Given the description of an element on the screen output the (x, y) to click on. 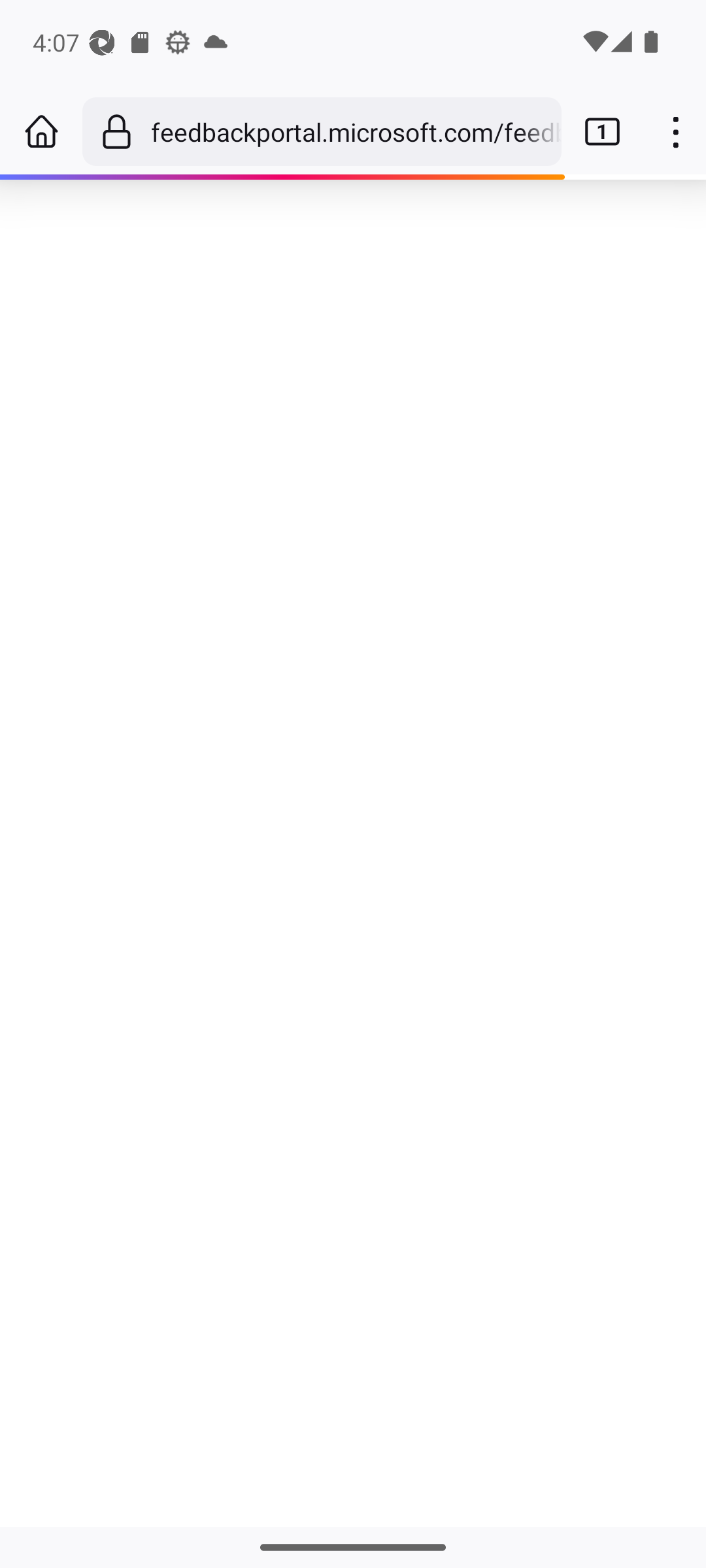
Home screen (41, 131)
Menu (674, 131)
Site information (116, 131)
